Given the description of an element on the screen output the (x, y) to click on. 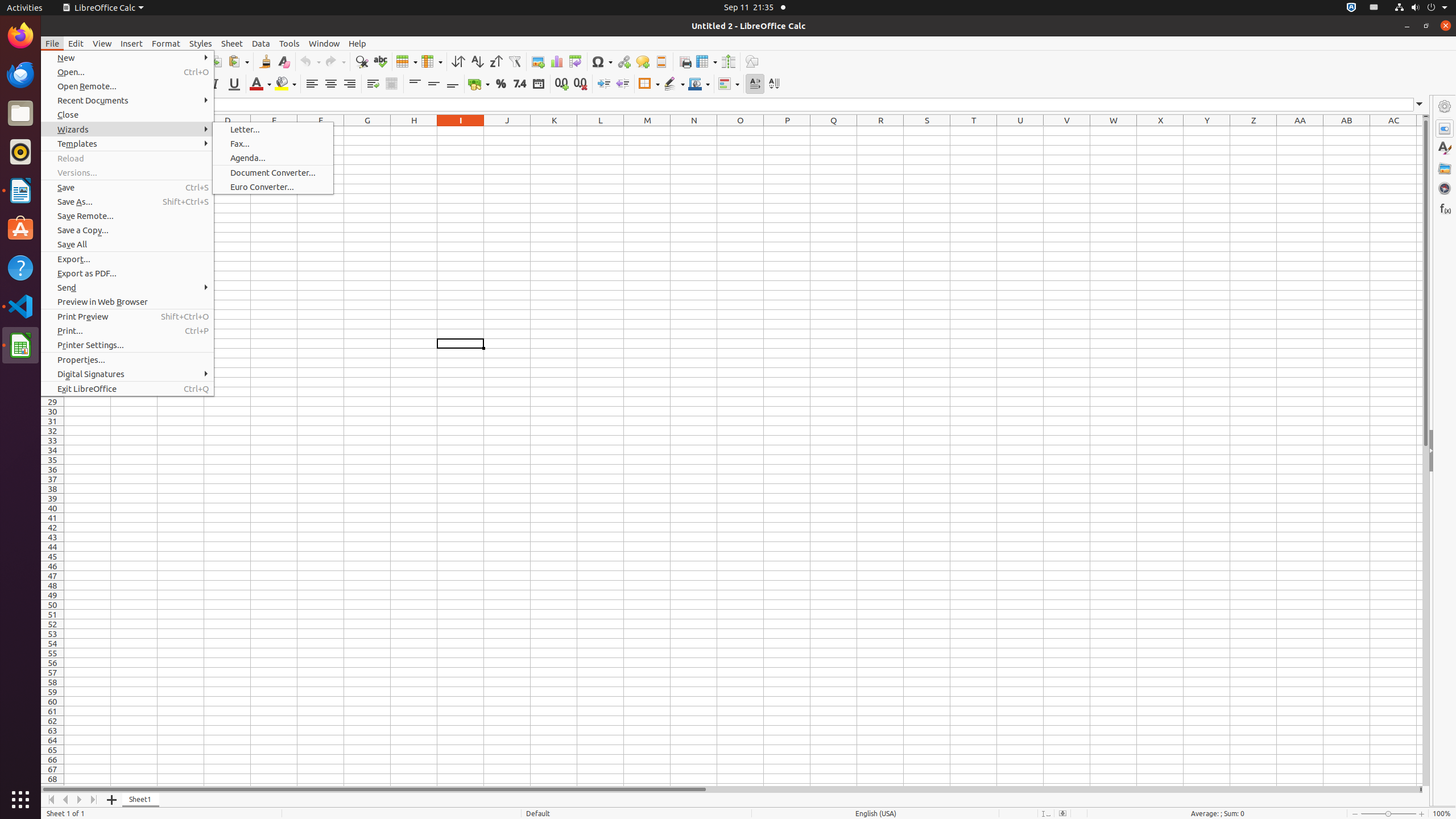
Z1 Element type: table-cell (1253, 130)
Reload Element type: menu-item (126, 158)
Clone Element type: push-button (264, 61)
Properties Element type: panel (1444, 450)
Redo Element type: push-button (334, 61)
